Given the description of an element on the screen output the (x, y) to click on. 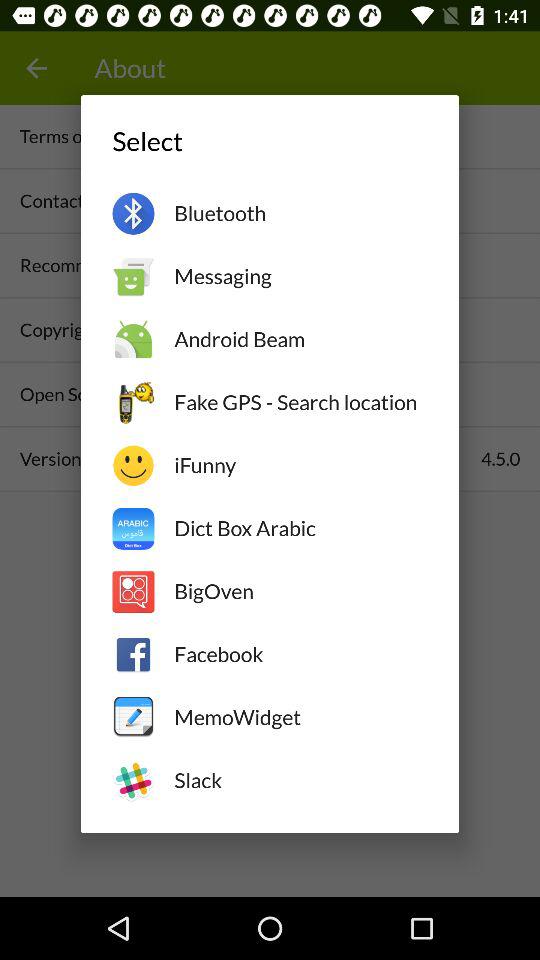
turn off the android beam (300, 339)
